Given the description of an element on the screen output the (x, y) to click on. 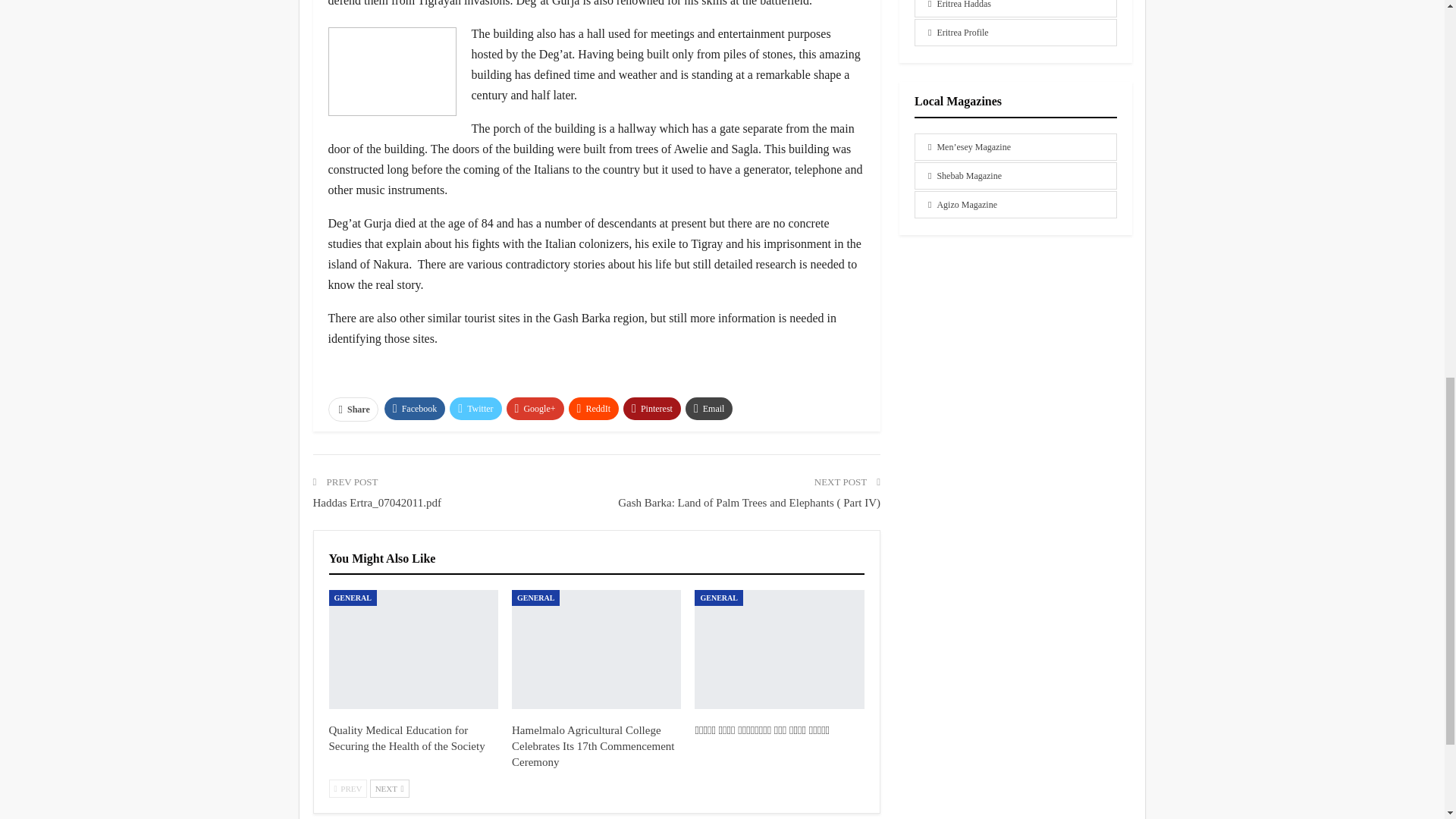
Next (389, 788)
Previous (348, 788)
